Given the description of an element on the screen output the (x, y) to click on. 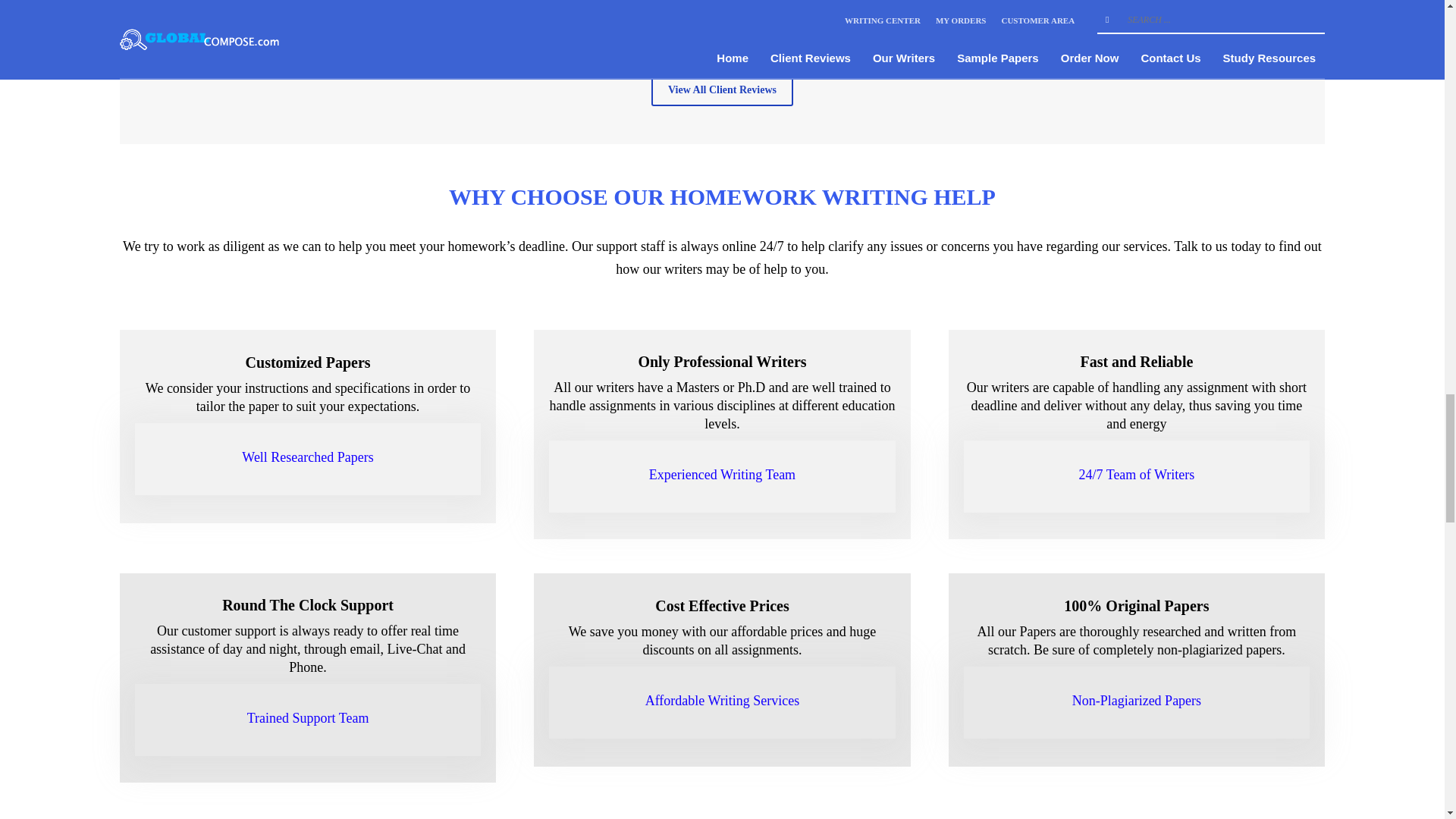
Non-Plagiarized Papers (1136, 700)
Well Researched Papers (306, 457)
Experienced Writing Team (721, 474)
Trained Support Team (308, 717)
Affordable Writing Services (722, 700)
View All Client Reviews (721, 90)
